Given the description of an element on the screen output the (x, y) to click on. 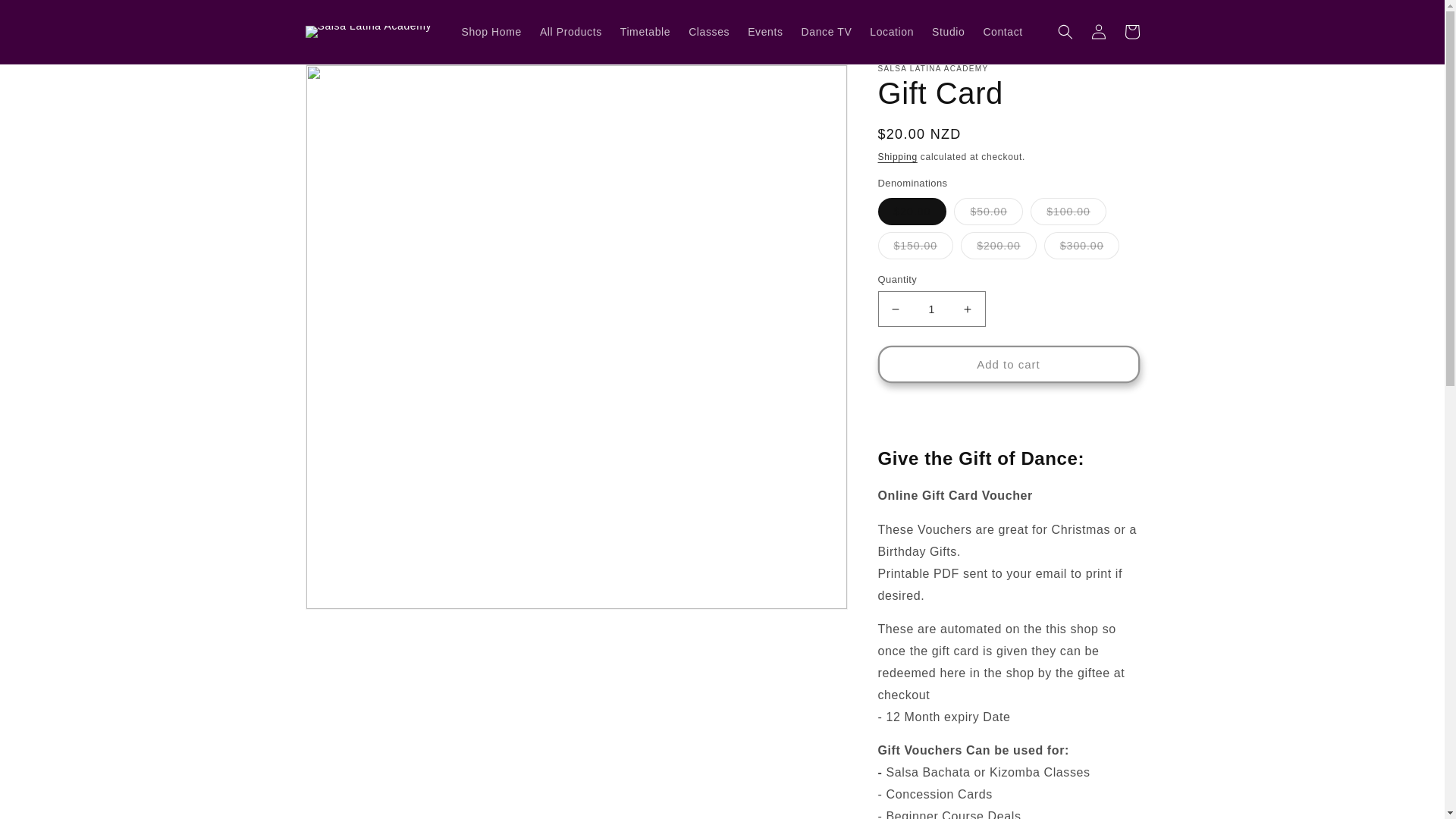
Studio (948, 31)
All Products (571, 31)
Increase quantity for Gift Card (967, 308)
Events (765, 31)
Skip to content (46, 18)
Decrease quantity for Gift Card (894, 308)
Shop Home (491, 31)
Contact (1002, 31)
Log in (1098, 31)
Shipping (897, 156)
